Given the description of an element on the screen output the (x, y) to click on. 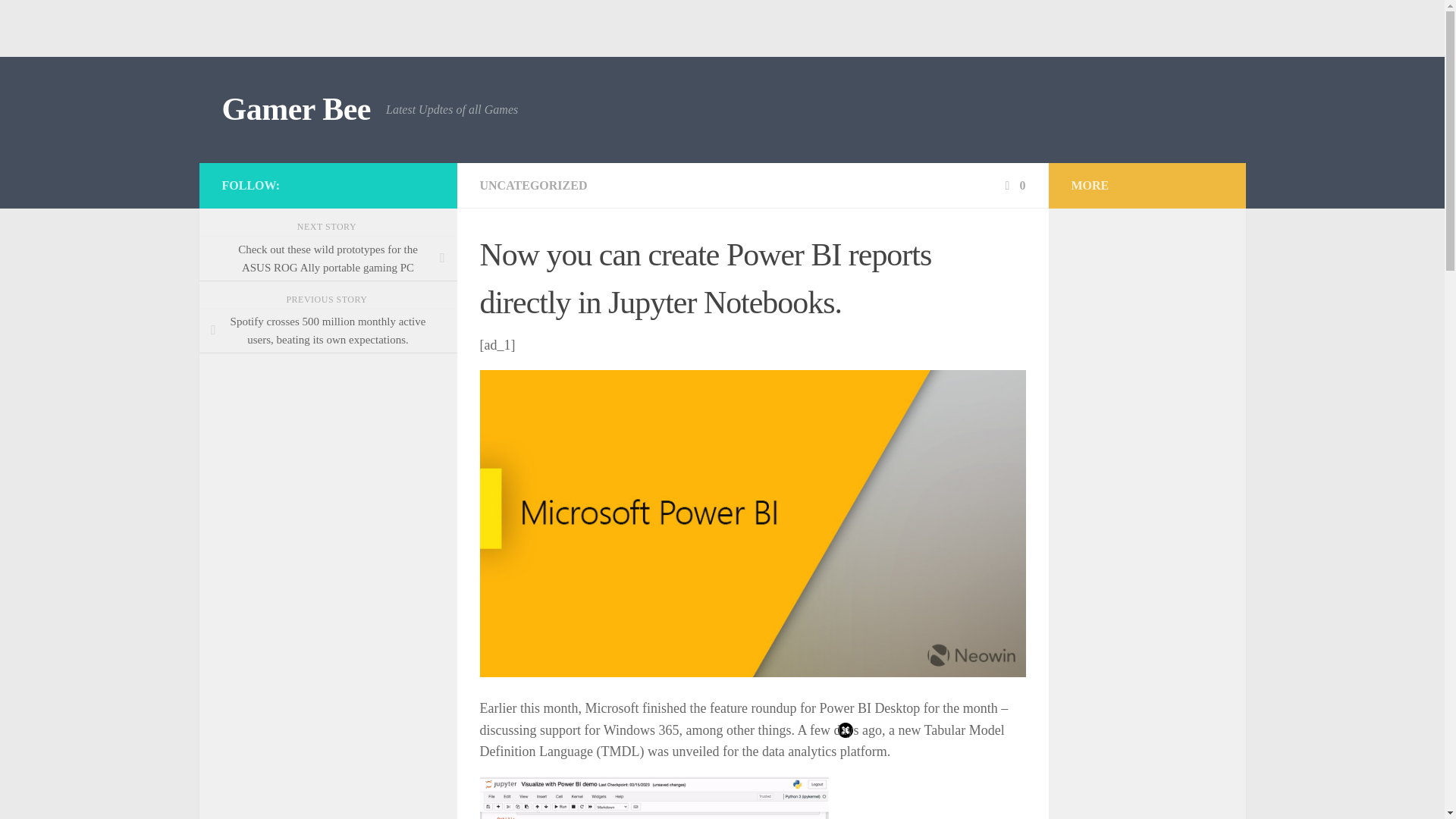
Gamer Bee (295, 109)
UNCATEGORIZED (532, 185)
0 (1013, 185)
Skip to content (59, 20)
